Given the description of an element on the screen output the (x, y) to click on. 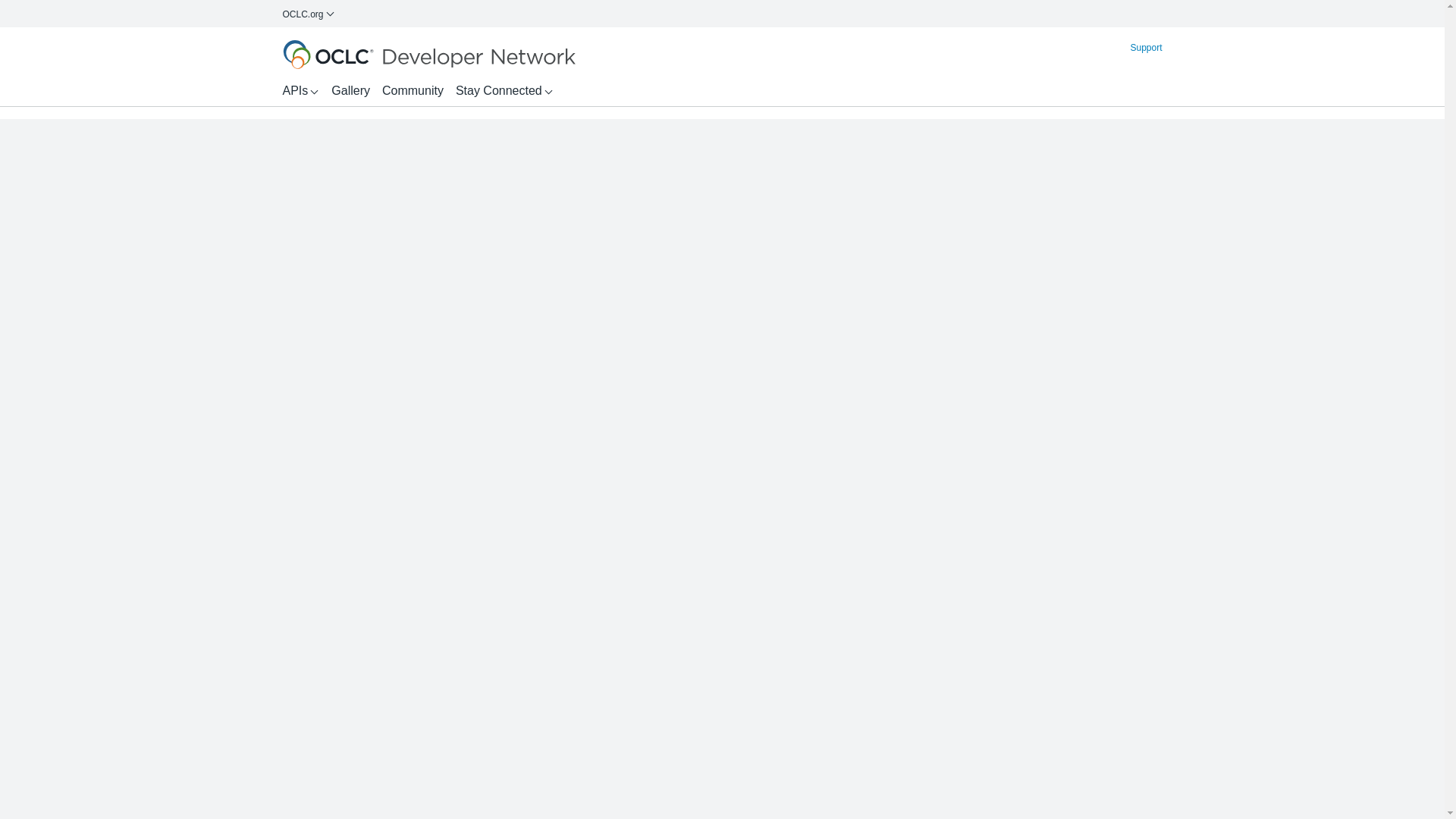
Skip to page content. (339, 44)
Stay Connected (504, 91)
APIs (300, 91)
Stay Connected (504, 91)
Support (1145, 47)
OCLC.org (308, 14)
Skip navigation and go directly to page content (339, 44)
Gallery (349, 91)
OCLC Developer Network home (428, 54)
APIs (300, 91)
